Given the description of an element on the screen output the (x, y) to click on. 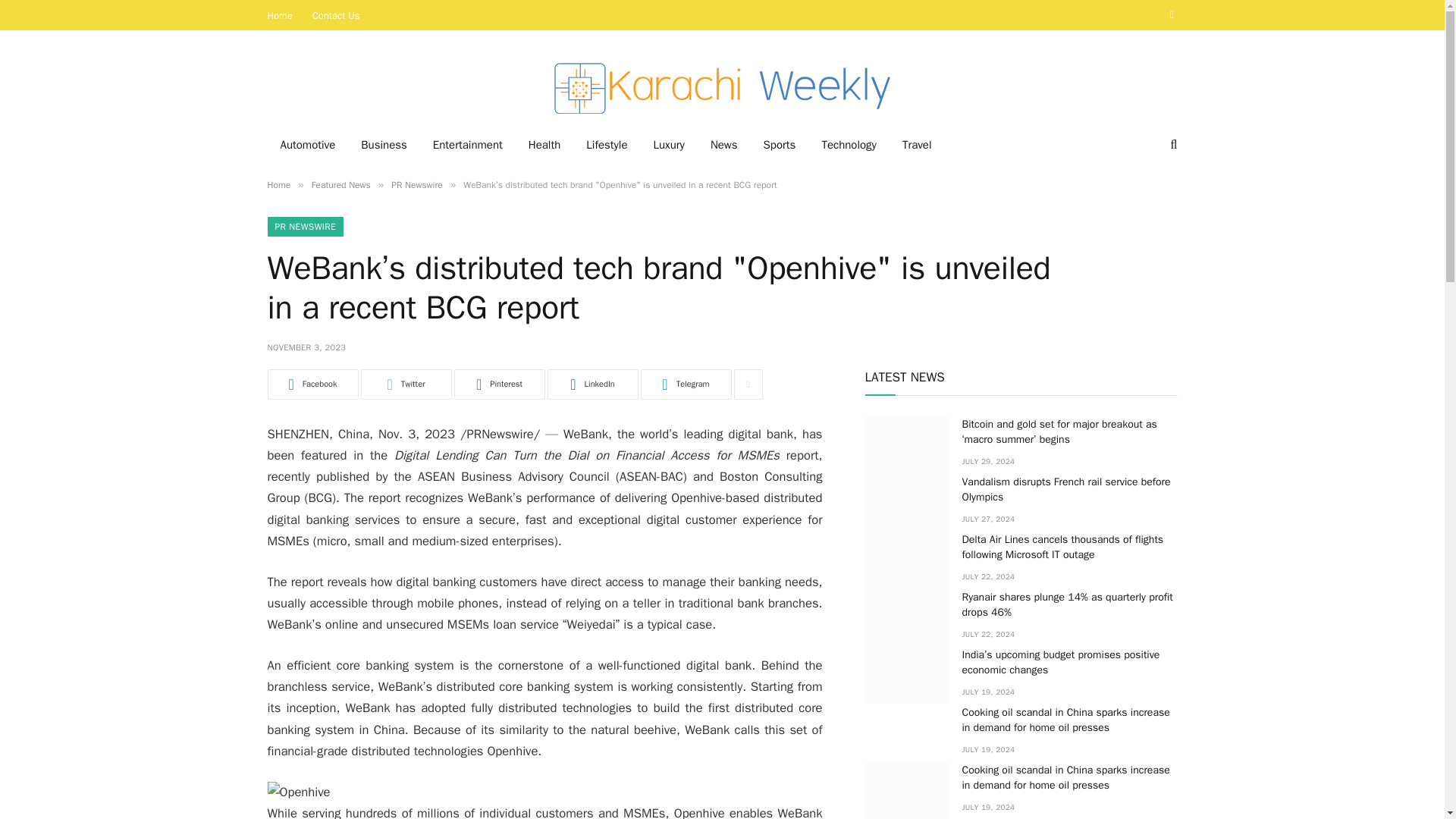
Share on Pinterest (498, 384)
Share on Facebook (312, 384)
PR Newswire (416, 184)
Sports (780, 144)
Share on LinkedIn (593, 384)
Technology (848, 144)
PR NEWSWIRE (304, 226)
Contact Us (335, 15)
Travel (916, 144)
Health (544, 144)
Home (277, 184)
Lifestyle (606, 144)
LinkedIn (593, 384)
Share on Telegram (685, 384)
Featured News (341, 184)
